Given the description of an element on the screen output the (x, y) to click on. 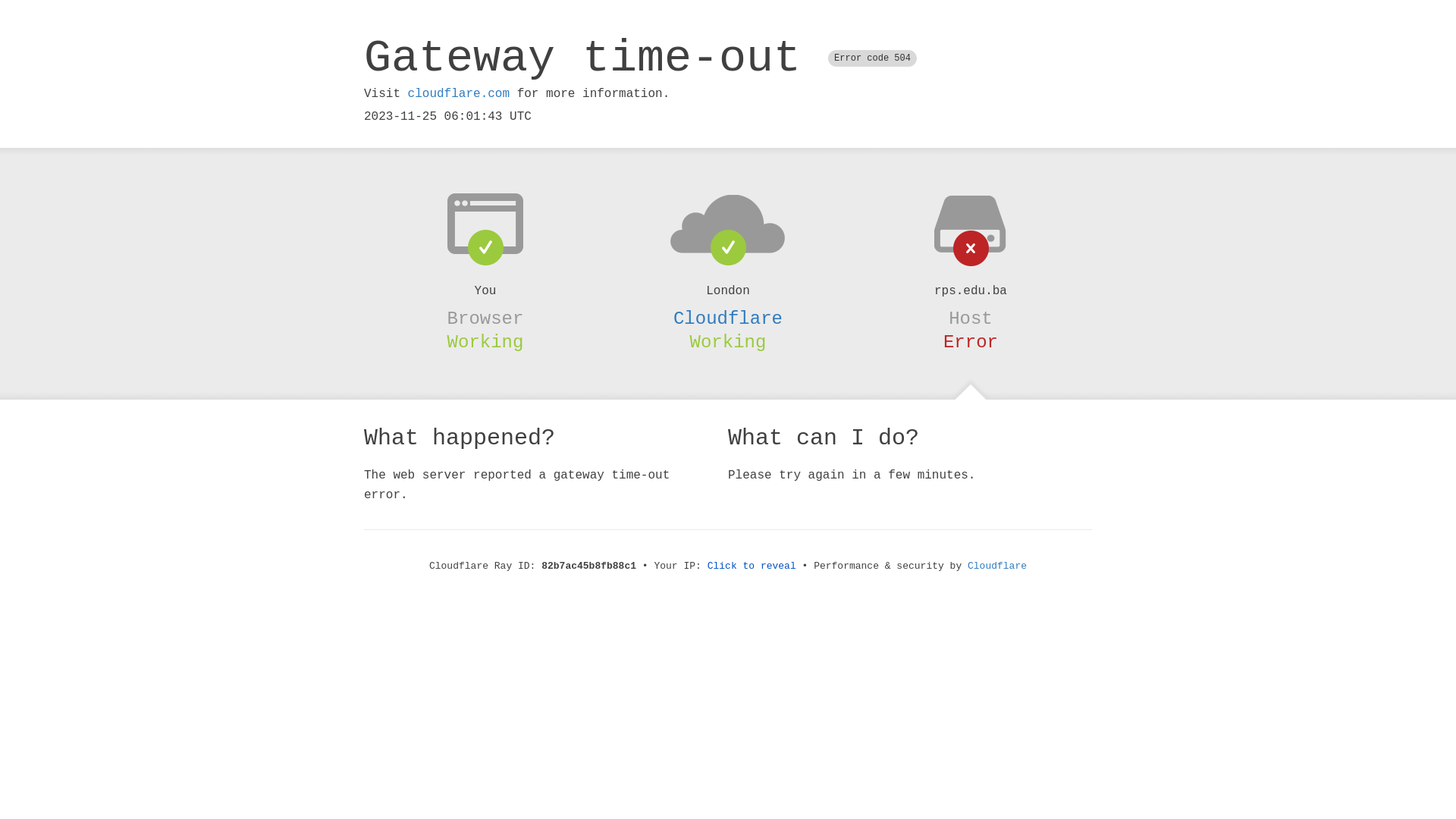
cloudflare.com Element type: text (458, 93)
Cloudflare Element type: text (727, 318)
Cloudflare Element type: text (996, 565)
Click to reveal Element type: text (751, 565)
